Given the description of an element on the screen output the (x, y) to click on. 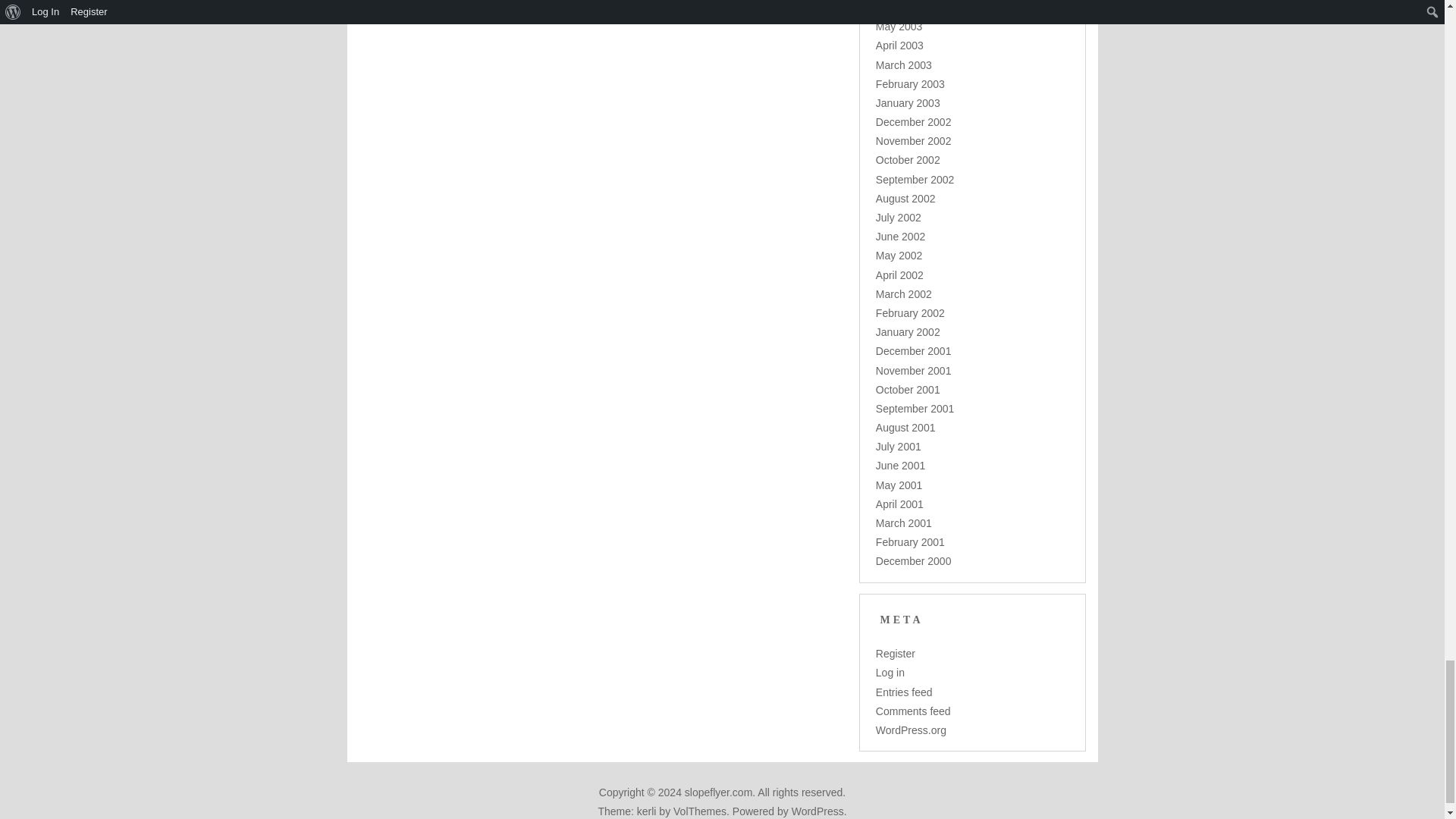
VolThemes (699, 811)
slopeflyer.com (718, 792)
WordPress (818, 811)
